Given the description of an element on the screen output the (x, y) to click on. 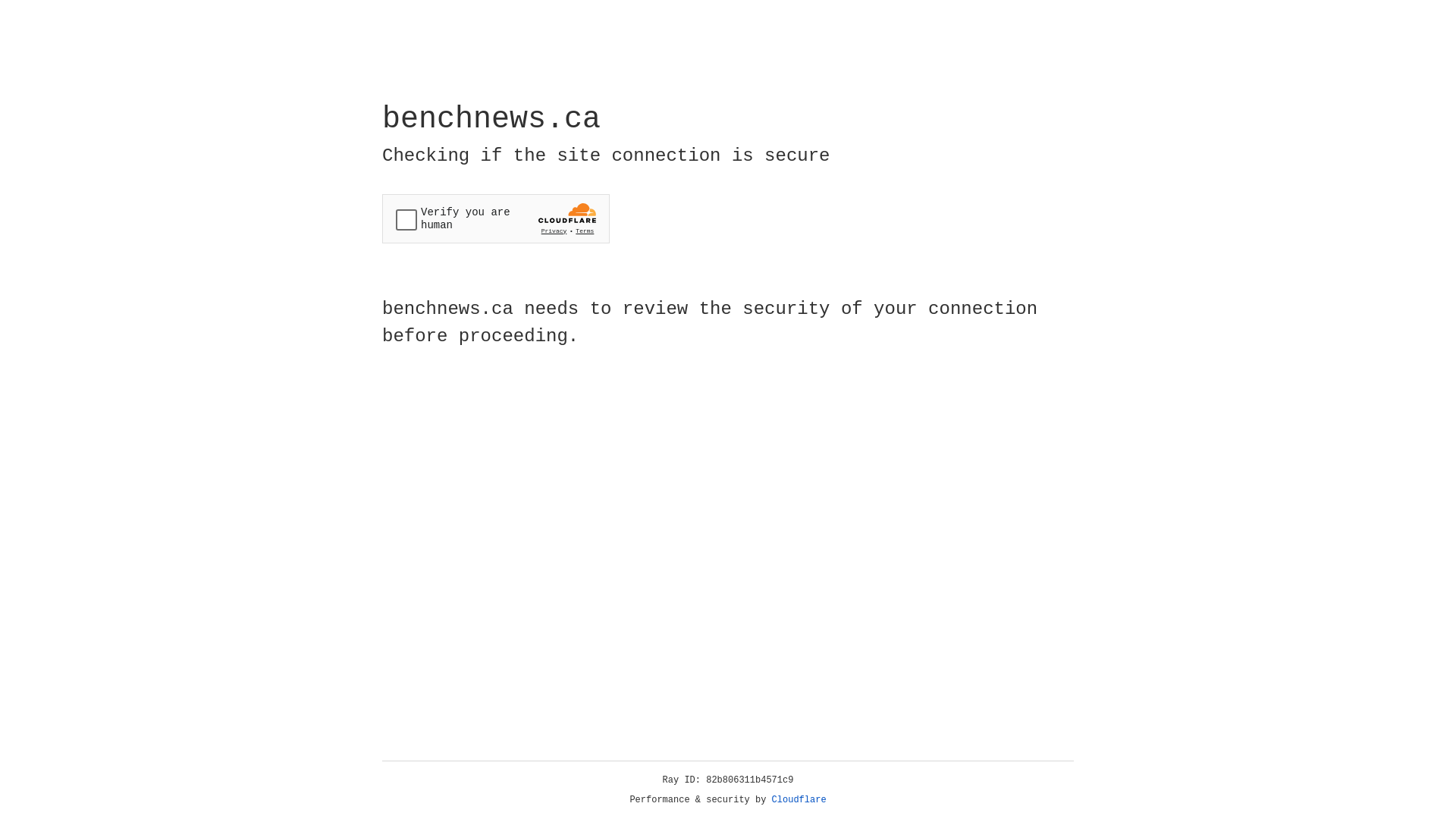
Cloudflare Element type: text (798, 799)
Widget containing a Cloudflare security challenge Element type: hover (495, 218)
